Given the description of an element on the screen output the (x, y) to click on. 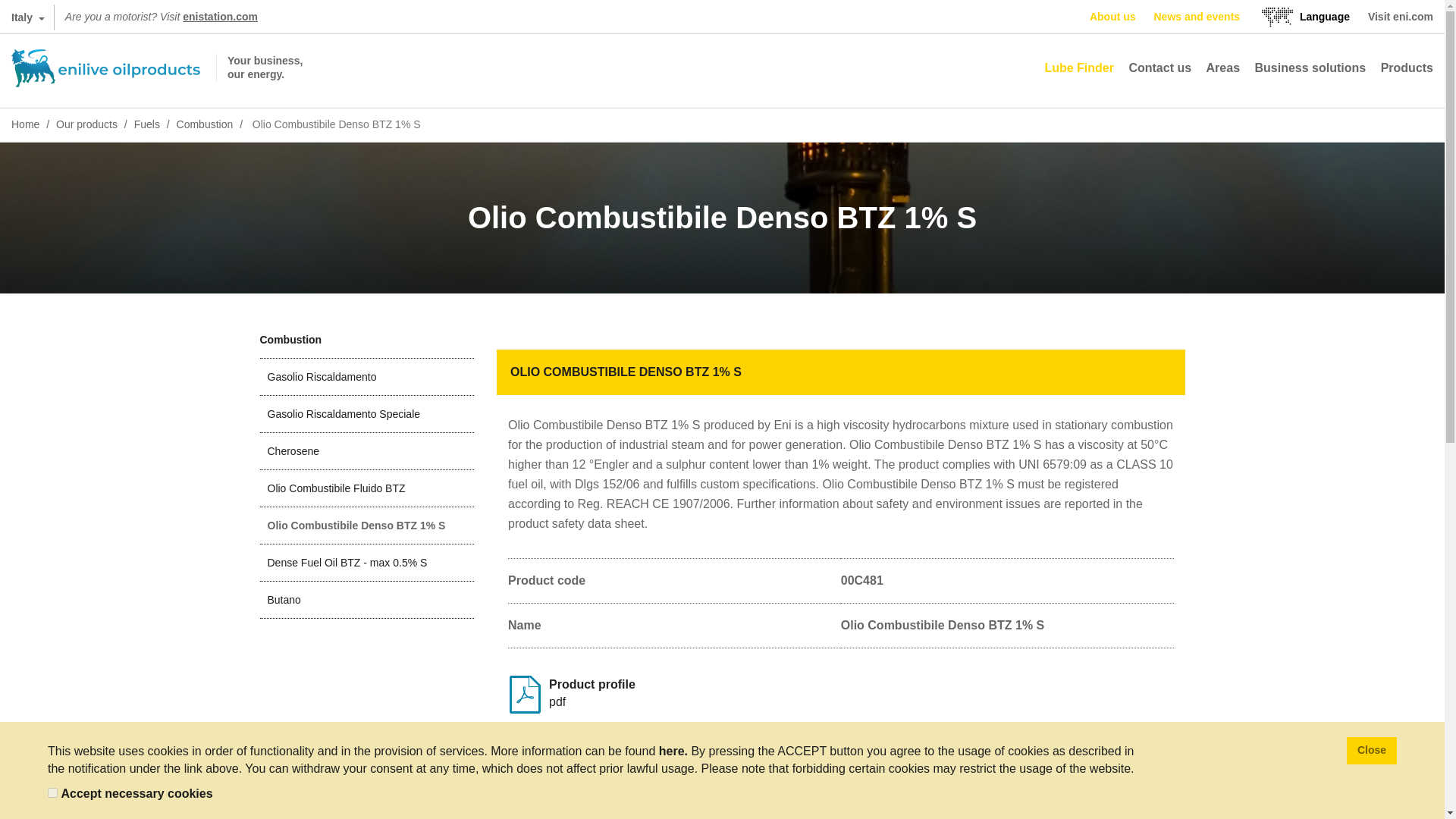
Lube Finder (1078, 67)
enistation.com (220, 16)
About us (1112, 16)
Italy   (27, 17)
Lube Finder (1078, 67)
Contact us (1159, 67)
Areas (1223, 67)
News and events (1196, 16)
About us (1112, 16)
Business solutions (1309, 67)
News and events (1196, 16)
Contact us (1159, 67)
Visit eni.com (1400, 16)
on (53, 792)
